Given the description of an element on the screen output the (x, y) to click on. 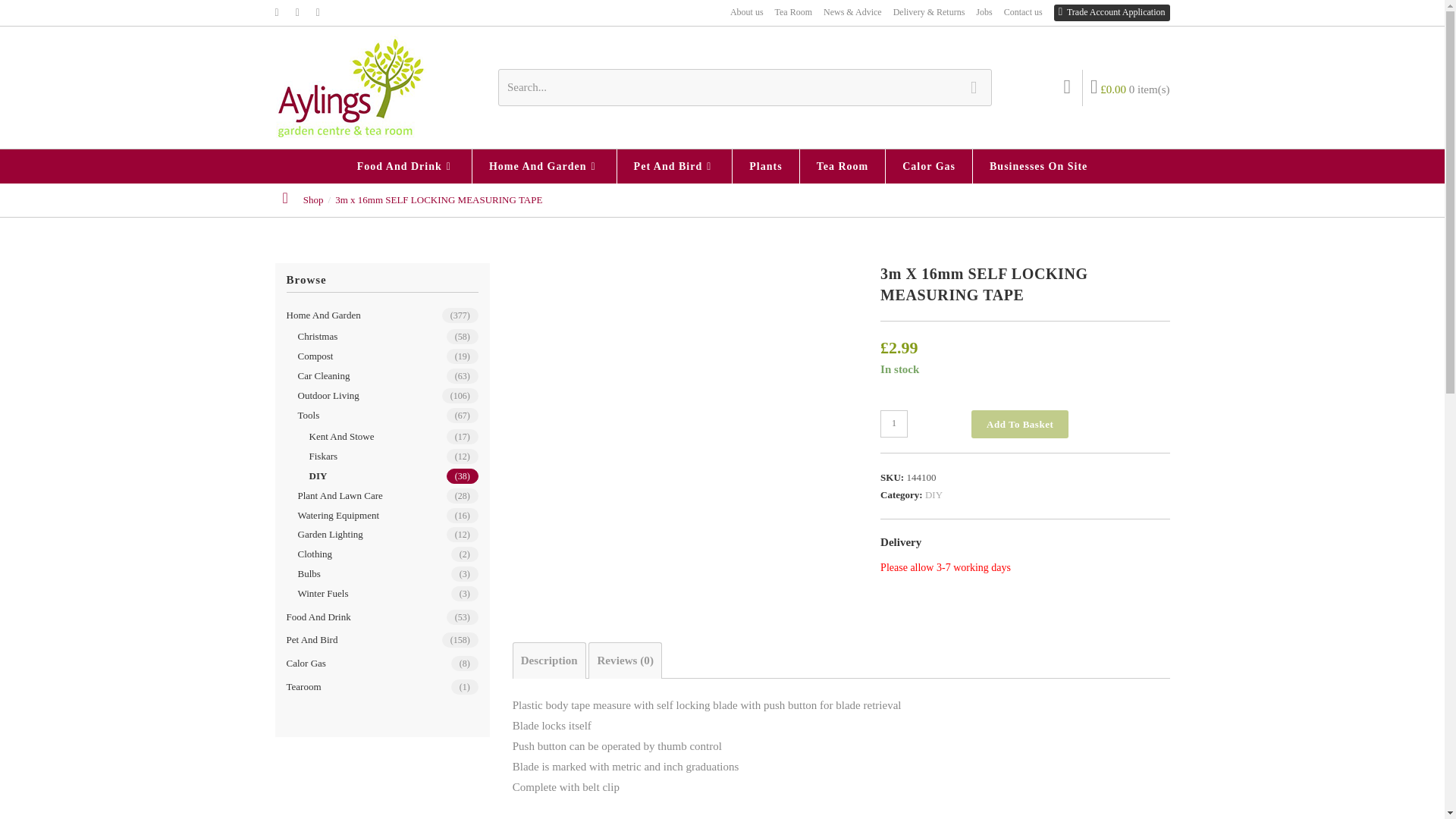
Contact us (1023, 12)
1 (893, 423)
Tea Room (793, 12)
About us (746, 12)
01730 810 430 (1108, 11)
Food And Drink (405, 166)
Pet And Bird (674, 166)
Trade Account Application (1112, 12)
Home And Garden (543, 166)
Jobs (983, 12)
